Given the description of an element on the screen output the (x, y) to click on. 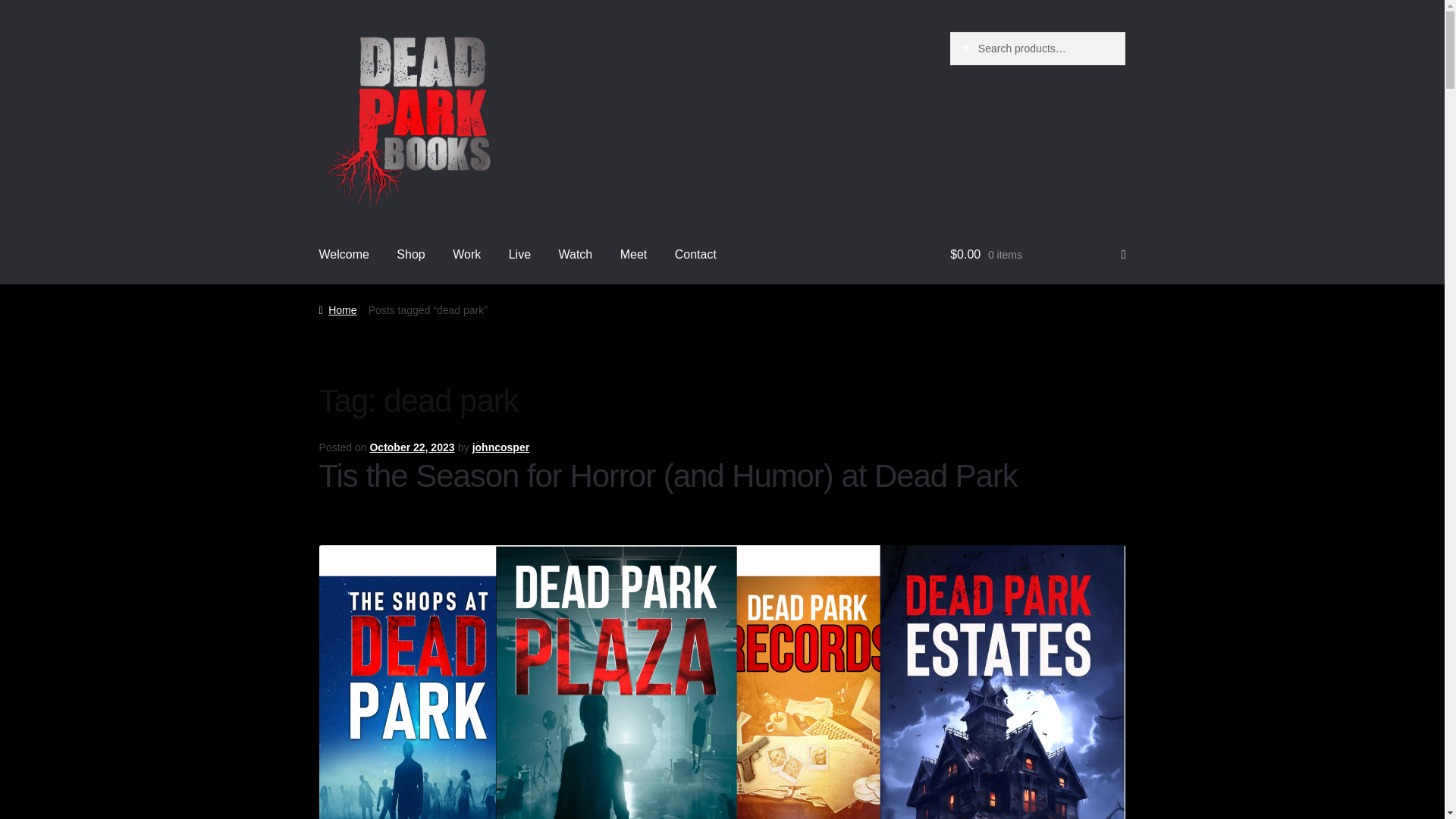
View your shopping cart (1037, 254)
Contact (695, 254)
Watch (575, 254)
Welcome (344, 254)
October 22, 2023 (411, 447)
Home (337, 309)
johncosper (500, 447)
